Given the description of an element on the screen output the (x, y) to click on. 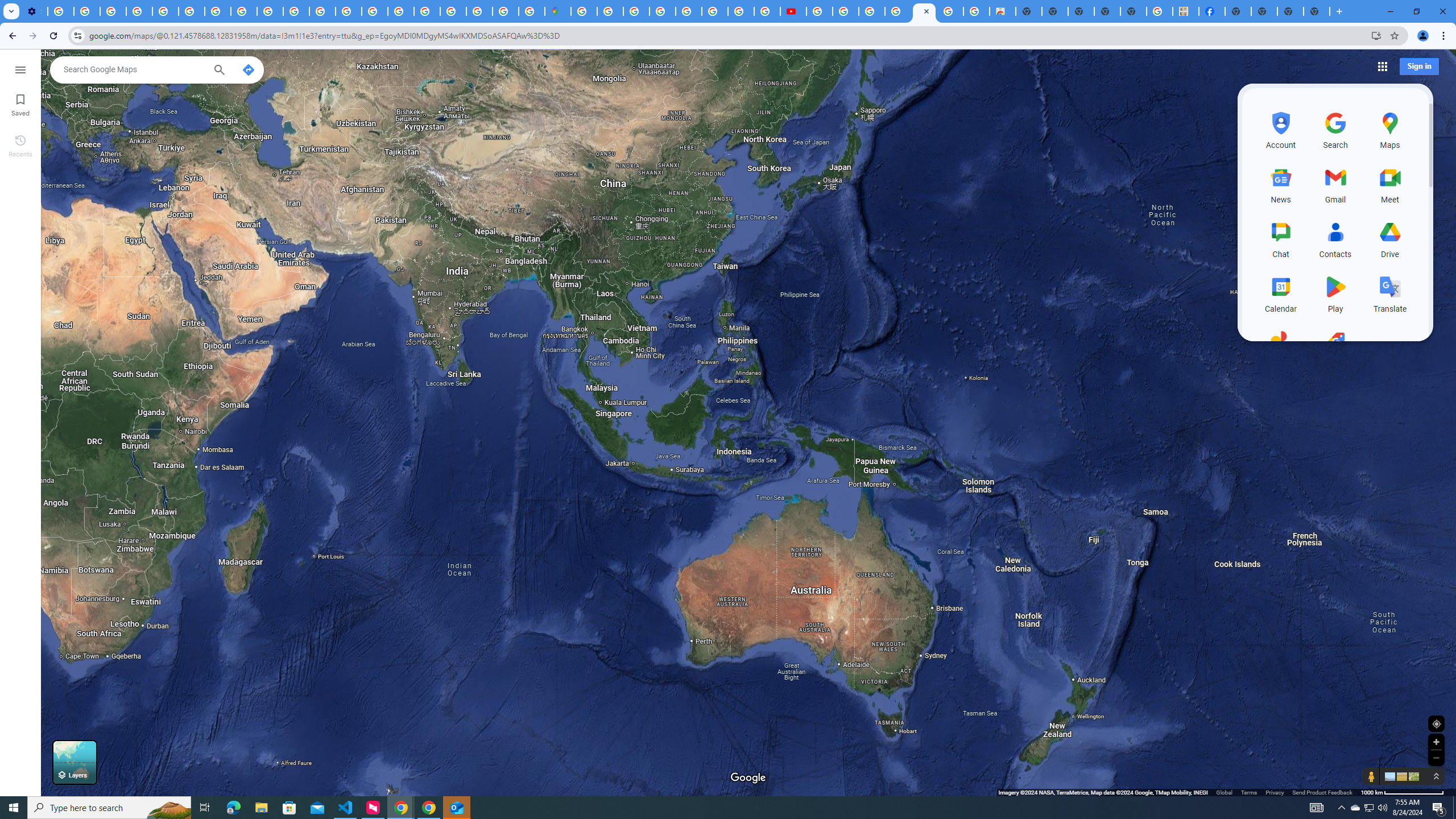
Privacy Checkup (296, 11)
Google apps (1381, 66)
Terms and Conditions (689, 11)
https://scholar.google.com/ (322, 11)
Recents (20, 145)
Send Product Feedback (1322, 792)
Show Your Location (1436, 723)
